Given the description of an element on the screen output the (x, y) to click on. 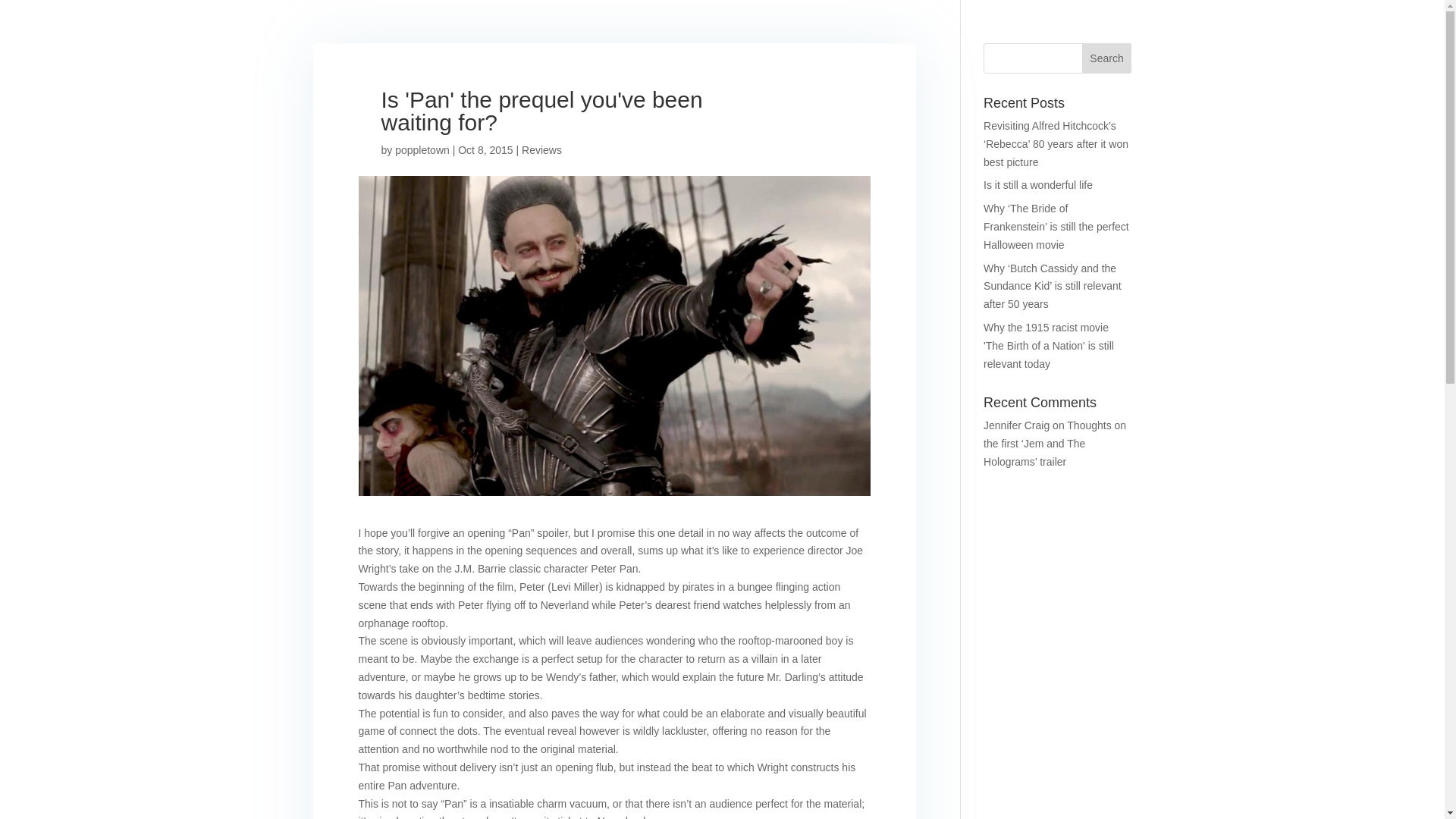
Posts by poppletown (421, 150)
Search (1106, 58)
